Given the description of an element on the screen output the (x, y) to click on. 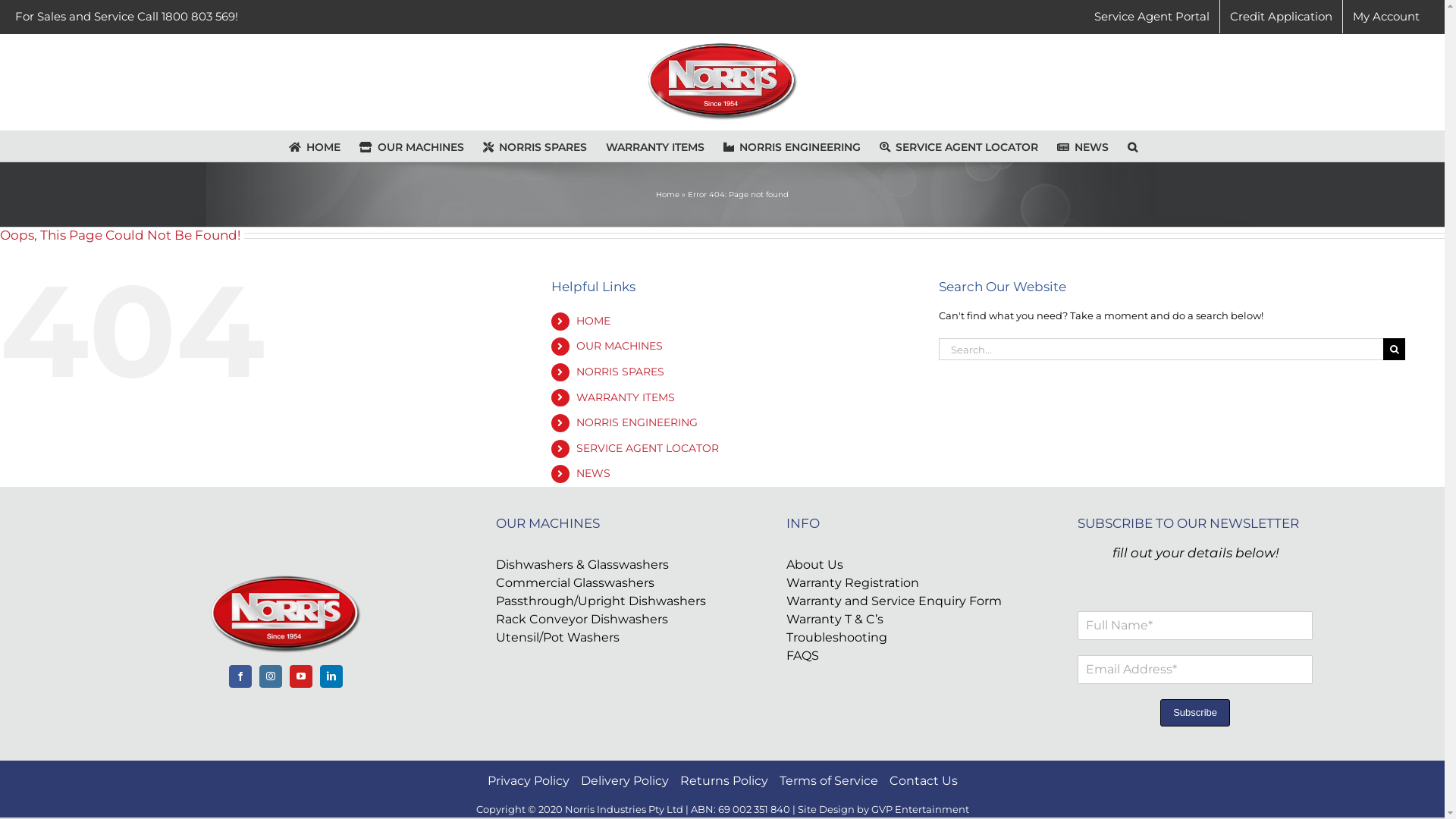
Passthrough/Upright Dishwashers Element type: text (613, 601)
FAQS Element type: text (903, 655)
Utensil/Pot Washers Element type: text (613, 637)
footertransparentlogo Element type: hover (285, 614)
NEWS Element type: text (593, 473)
Warranty Registration Element type: text (903, 583)
Credit Application Element type: text (1281, 16)
Returns Policy Element type: text (723, 780)
Dishwashers & Glasswashers Element type: text (613, 564)
Search Element type: hover (1131, 145)
SERVICE AGENT LOCATOR Element type: text (958, 145)
OUR MACHINES Element type: text (411, 145)
Facebook Element type: hover (240, 676)
NORRIS SPARES Element type: text (534, 145)
WARRANTY ITEMS Element type: text (625, 397)
1800 803 569! Element type: text (199, 16)
Troubleshooting Element type: text (903, 637)
SERVICE AGENT LOCATOR Element type: text (647, 448)
Delivery Policy Element type: text (624, 780)
NORRIS SPARES Element type: text (620, 371)
HOME Element type: text (593, 320)
NEWS Element type: text (1082, 145)
Contact Us Element type: text (922, 780)
HOME Element type: text (313, 145)
Subscribe Element type: text (1195, 713)
YouTube Element type: hover (300, 676)
WARRANTY ITEMS Element type: text (654, 145)
Service Agent Portal Element type: text (1151, 16)
Terms of Service Element type: text (828, 780)
Instagram Element type: hover (270, 676)
NORRIS ENGINEERING Element type: text (636, 422)
My Account Element type: text (1386, 16)
Privacy Policy Element type: text (527, 780)
NORRIS ENGINEERING Element type: text (791, 145)
Commercial Glasswashers Element type: text (613, 583)
Warranty and Service Enquiry Form Element type: text (903, 601)
OUR MACHINES Element type: text (619, 345)
Home Element type: text (667, 194)
About Us Element type: text (903, 564)
Rack Conveyor Dishwashers Element type: text (613, 619)
LinkedIn Element type: hover (331, 676)
